Given the description of an element on the screen output the (x, y) to click on. 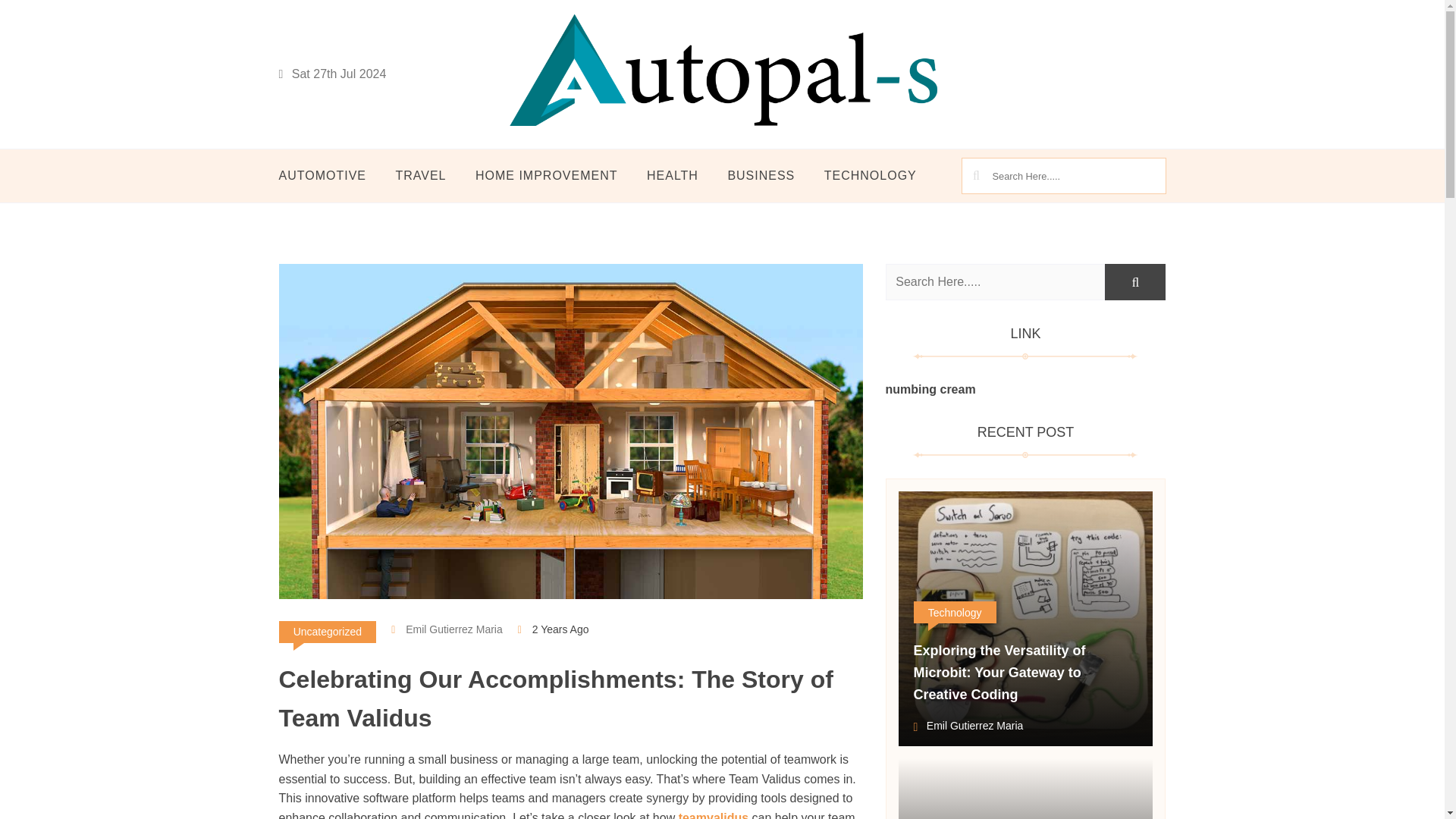
Uncategorized (328, 631)
2 Years Ago (560, 629)
Emil Gutierrez Maria (446, 629)
numbing cream (930, 389)
AUTOPAL-S (576, 155)
HOME IMPROVEMENT (546, 175)
BUSINESS (761, 175)
AUTOMOTIVE (329, 175)
Emil Gutierrez Maria (967, 727)
HEALTH (672, 175)
teamvalidus (713, 815)
TECHNOLOGY (870, 175)
TRAVEL (419, 175)
Technology (953, 612)
